Given the description of an element on the screen output the (x, y) to click on. 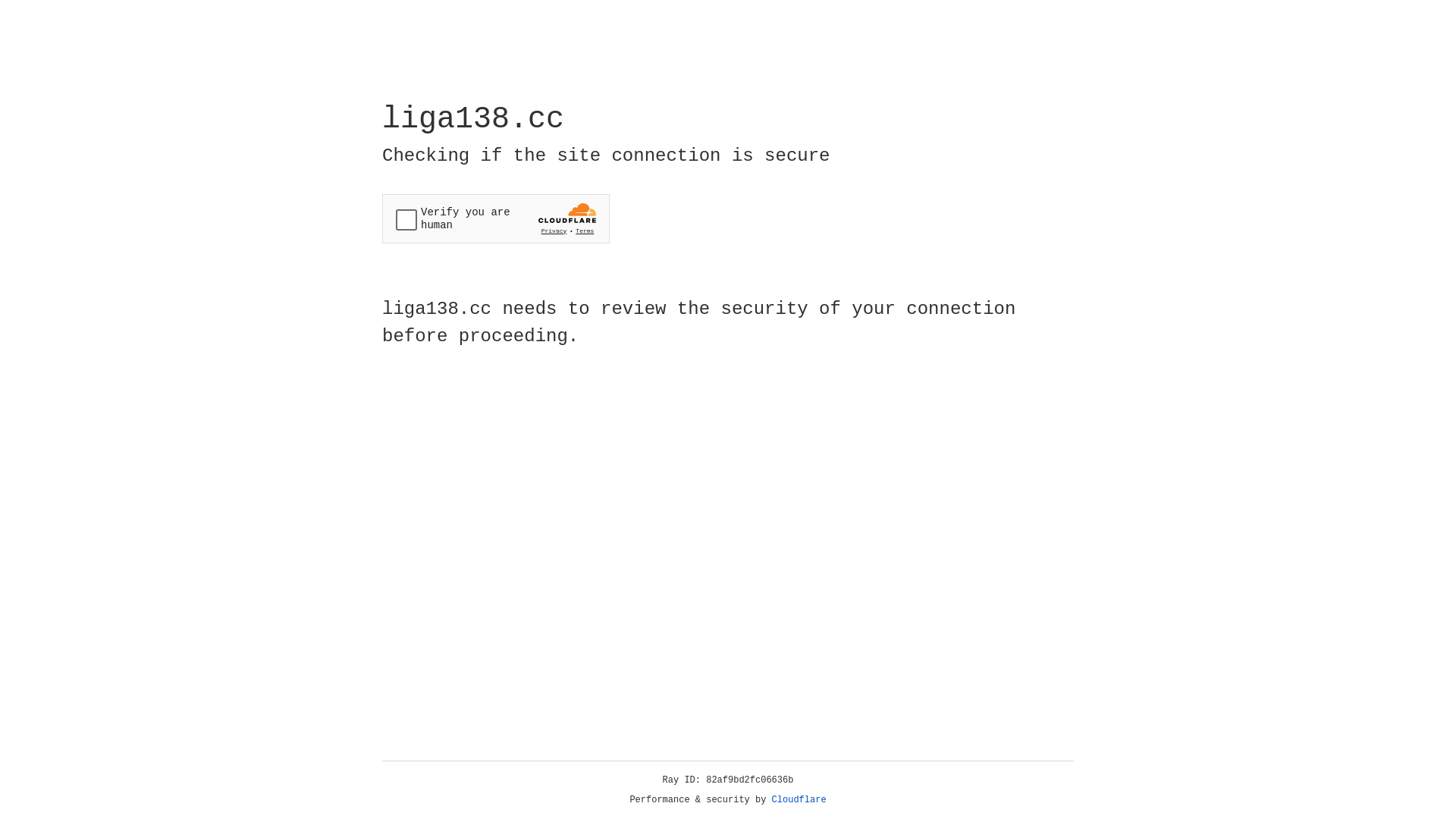
Cloudflare Element type: text (798, 799)
Widget containing a Cloudflare security challenge Element type: hover (495, 218)
